Given the description of an element on the screen output the (x, y) to click on. 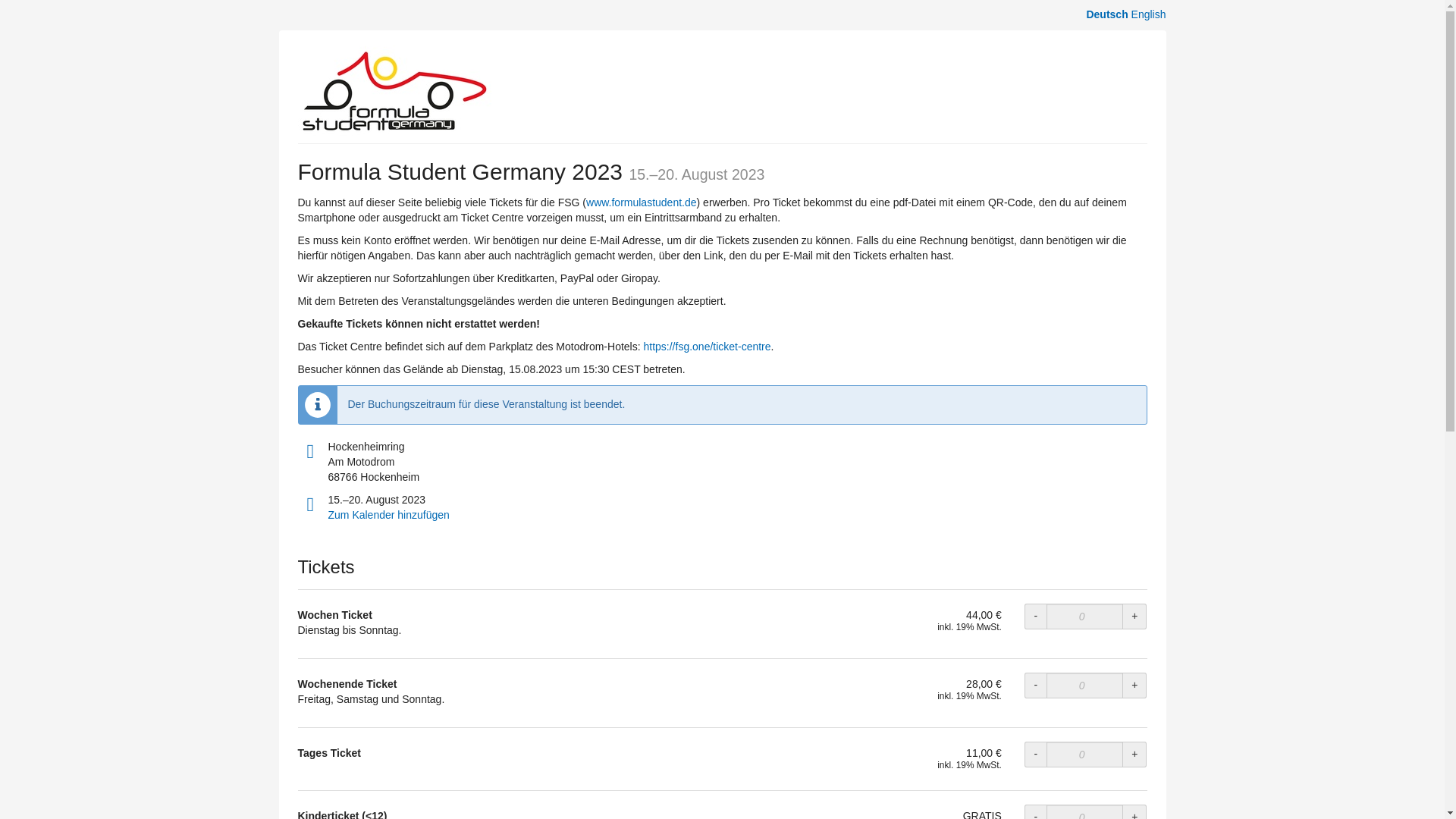
- (1035, 811)
www.formulastudent.de (641, 202)
Wo findet diese Veranstaltung statt? (309, 451)
Startseite (393, 90)
Wann findet diese Veranstaltung statt? (309, 505)
Deutsch (1106, 14)
English (1148, 14)
